Given the description of an element on the screen output the (x, y) to click on. 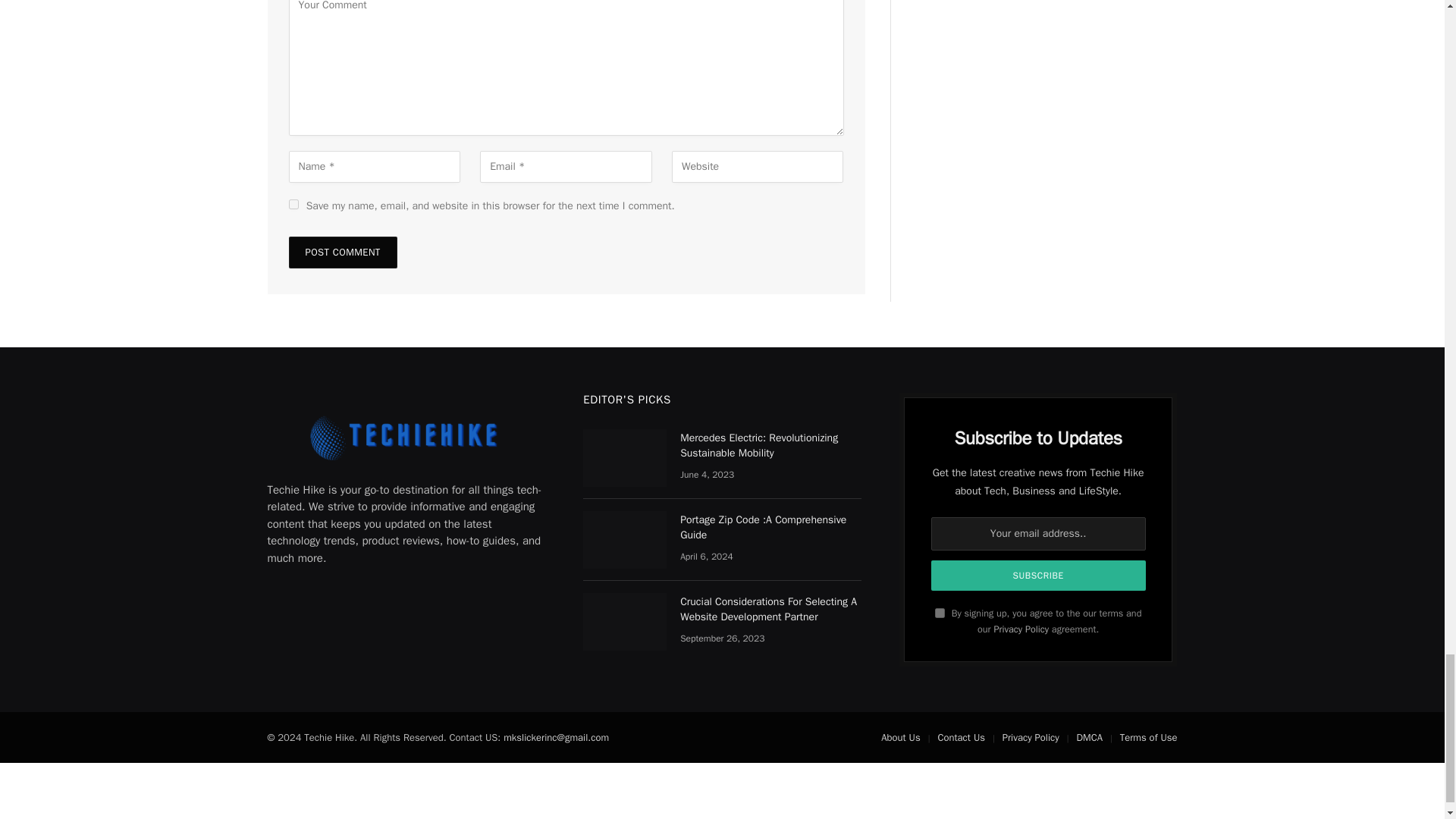
on (939, 613)
Post Comment (342, 252)
Subscribe (1038, 575)
Post Comment (342, 252)
yes (293, 204)
